Given the description of an element on the screen output the (x, y) to click on. 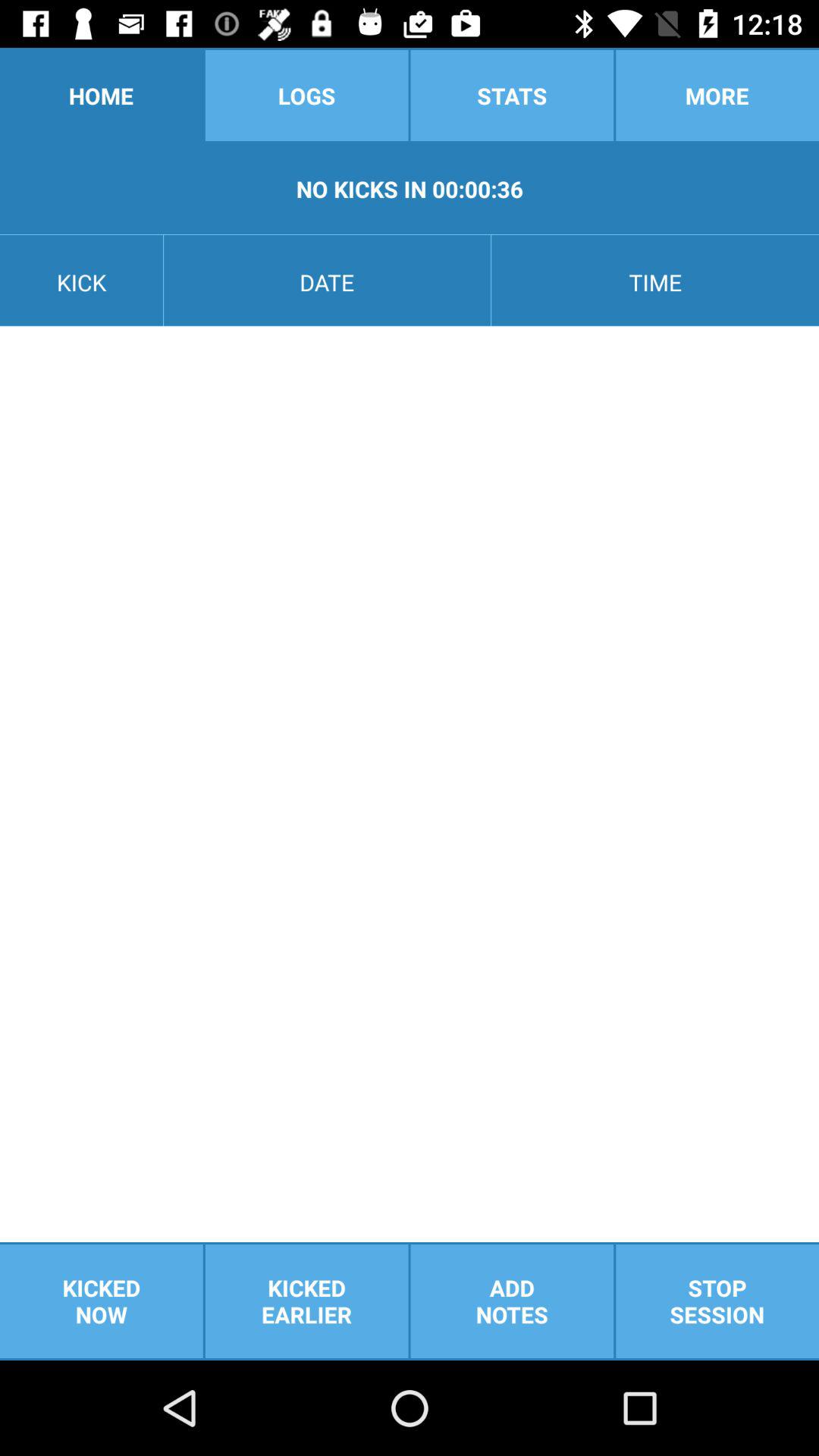
jump until add
notes (511, 1301)
